Given the description of an element on the screen output the (x, y) to click on. 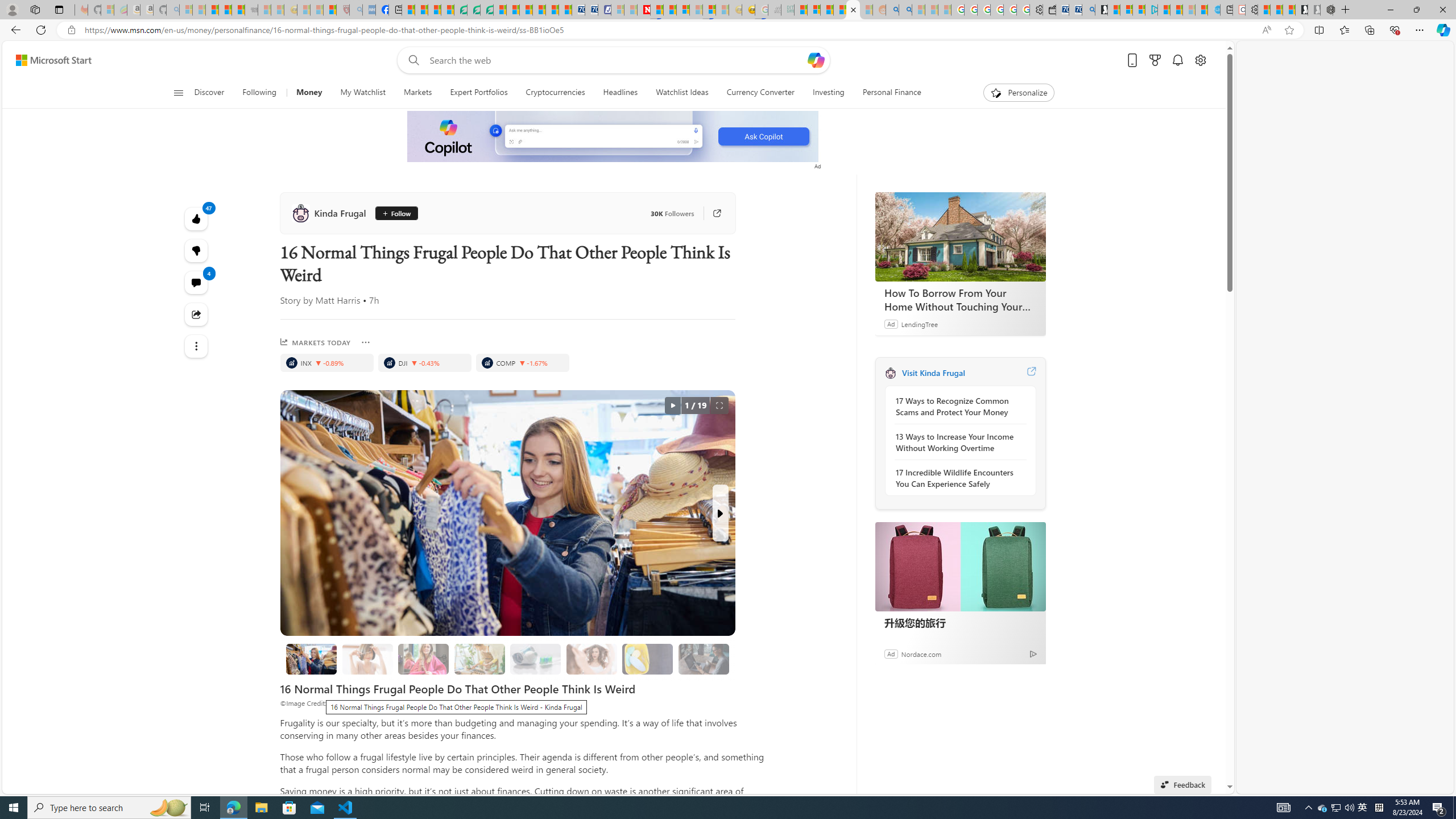
Markets (417, 92)
Microsoft Start - Sleeping (1188, 9)
Microsoft rewards (1154, 60)
New Report Confirms 2023 Was Record Hot | Watch (237, 9)
Next Slide (719, 512)
17 Ways to Recognize Common Scams and Protect Your Money (957, 406)
Class: button-glyph (178, 92)
Expert Portfolios (478, 92)
View comments 4 Comment (196, 282)
Kinda Frugal (331, 212)
